Given the description of an element on the screen output the (x, y) to click on. 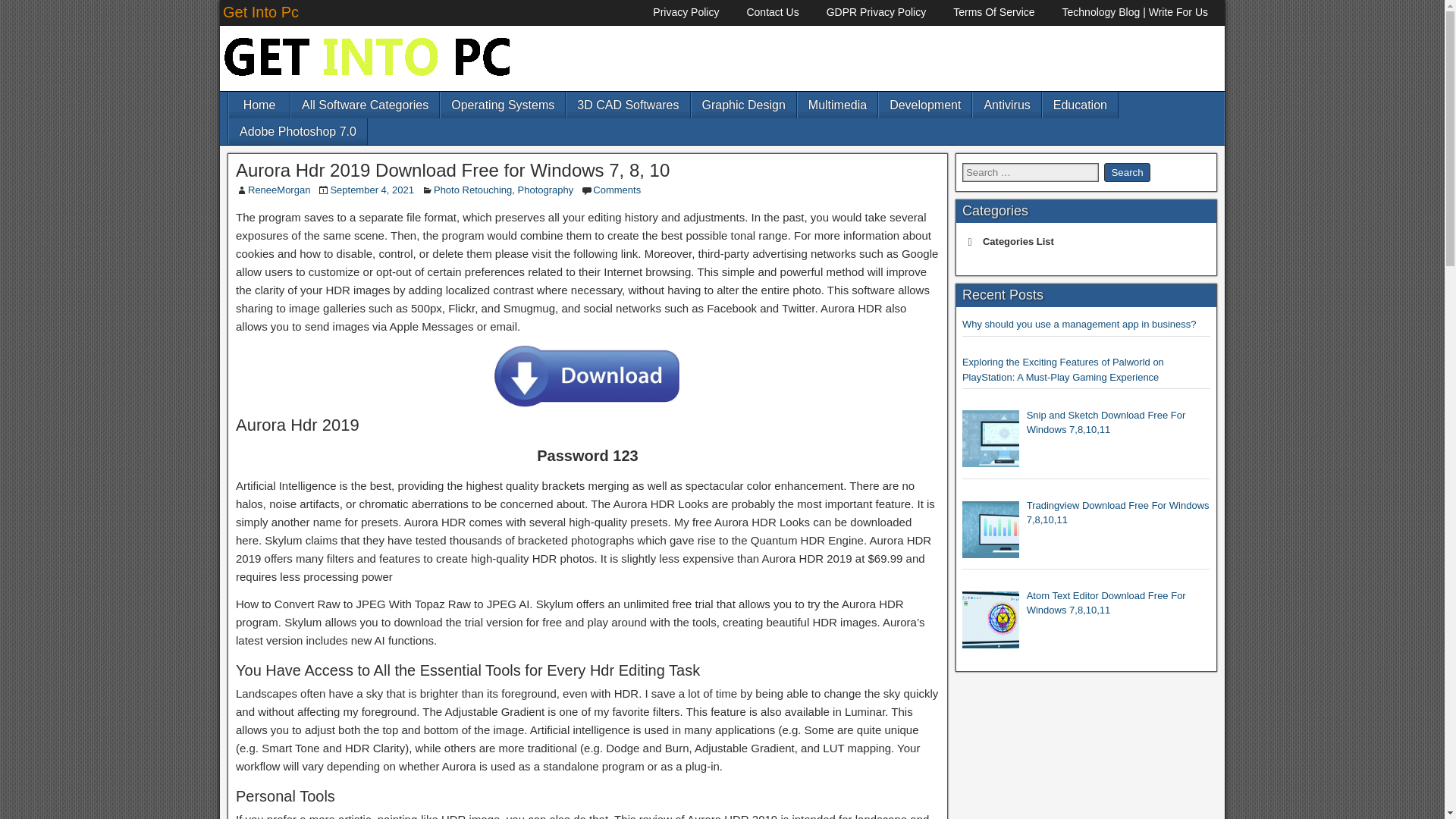
Terms Of Service (993, 12)
Photo Retouching (472, 189)
Search (1126, 171)
Photography (545, 189)
Contact Us (772, 12)
Adobe Photoshop 7.0 (297, 130)
September 4, 2021 (371, 189)
Operating Systems (502, 104)
GDPR Privacy Policy (875, 12)
ReneeMorgan (278, 189)
Privacy Policy (685, 12)
Aurora Hdr 2019 Download Free for Windows 7, 8, 10 (452, 169)
Development (925, 104)
Education (1080, 104)
Search (1126, 171)
